Given the description of an element on the screen output the (x, y) to click on. 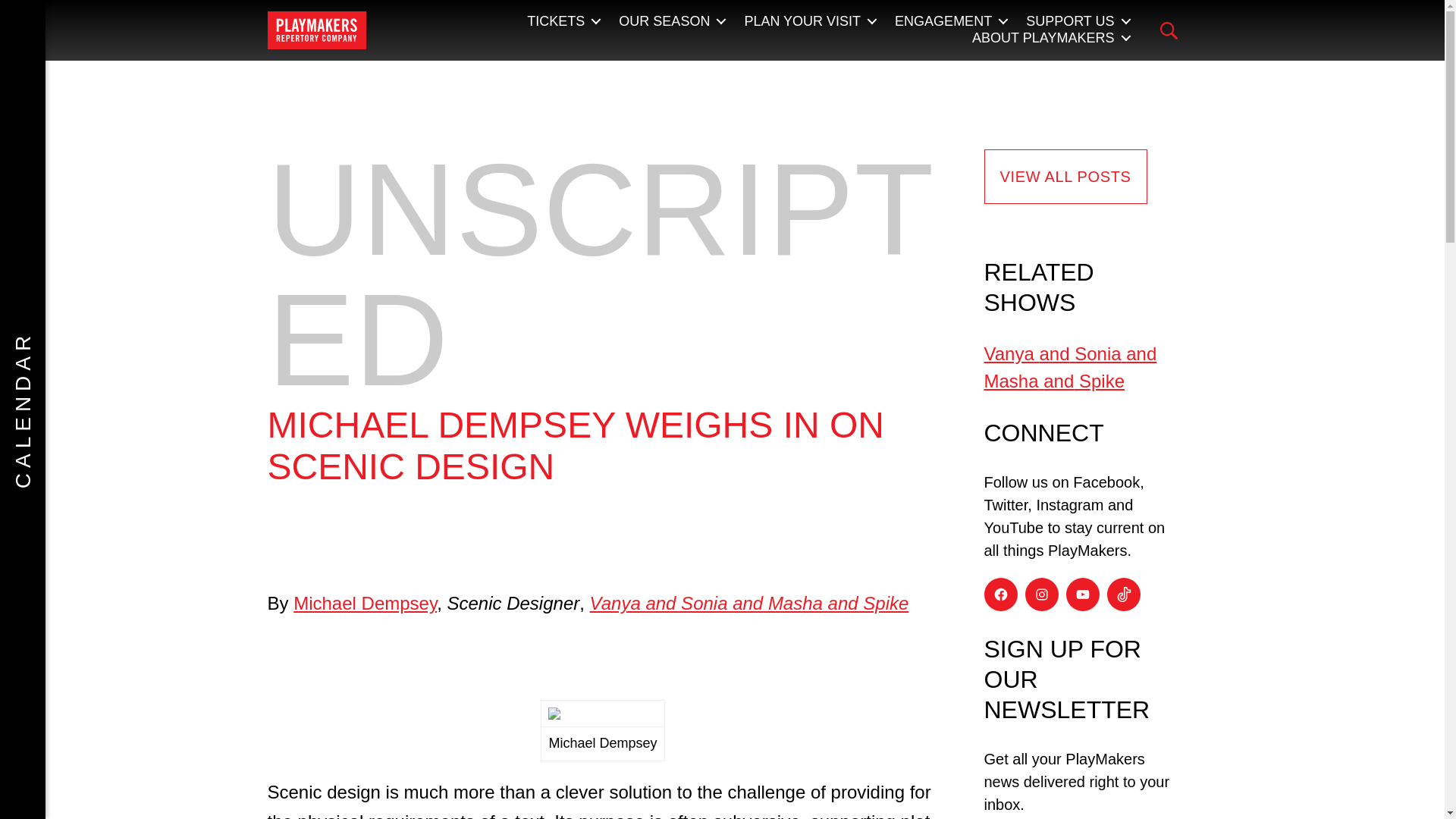
ABOUT PLAYMAKERS (1050, 38)
TICKETS (563, 21)
OUR SEASON (671, 21)
ENGAGEMENT (951, 21)
PLAN YOUR VISIT (810, 21)
SUPPORT US (1077, 21)
